Given the description of an element on the screen output the (x, y) to click on. 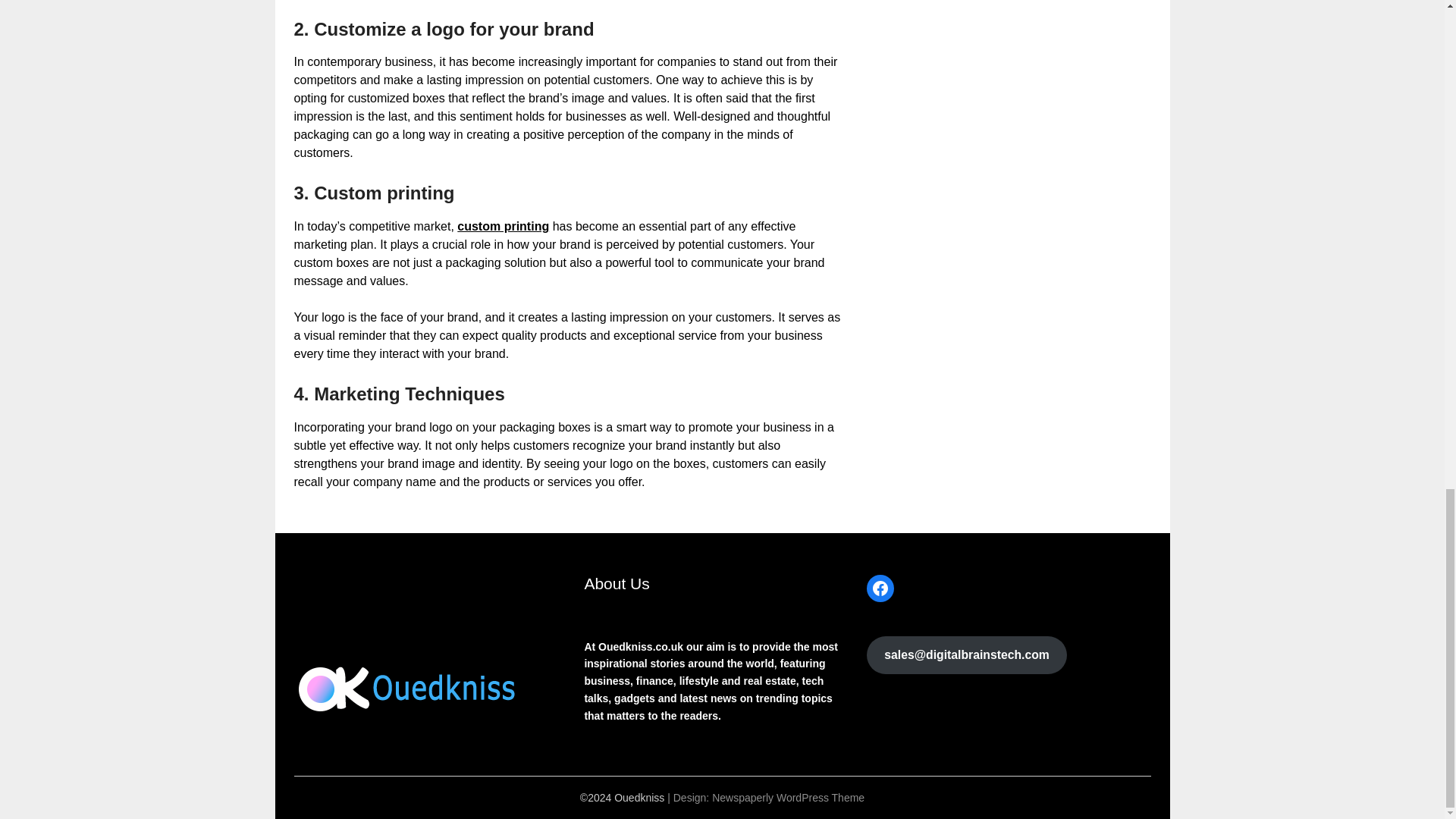
Newspaperly WordPress Theme (787, 797)
custom printing (502, 226)
Facebook (879, 587)
